Given the description of an element on the screen output the (x, y) to click on. 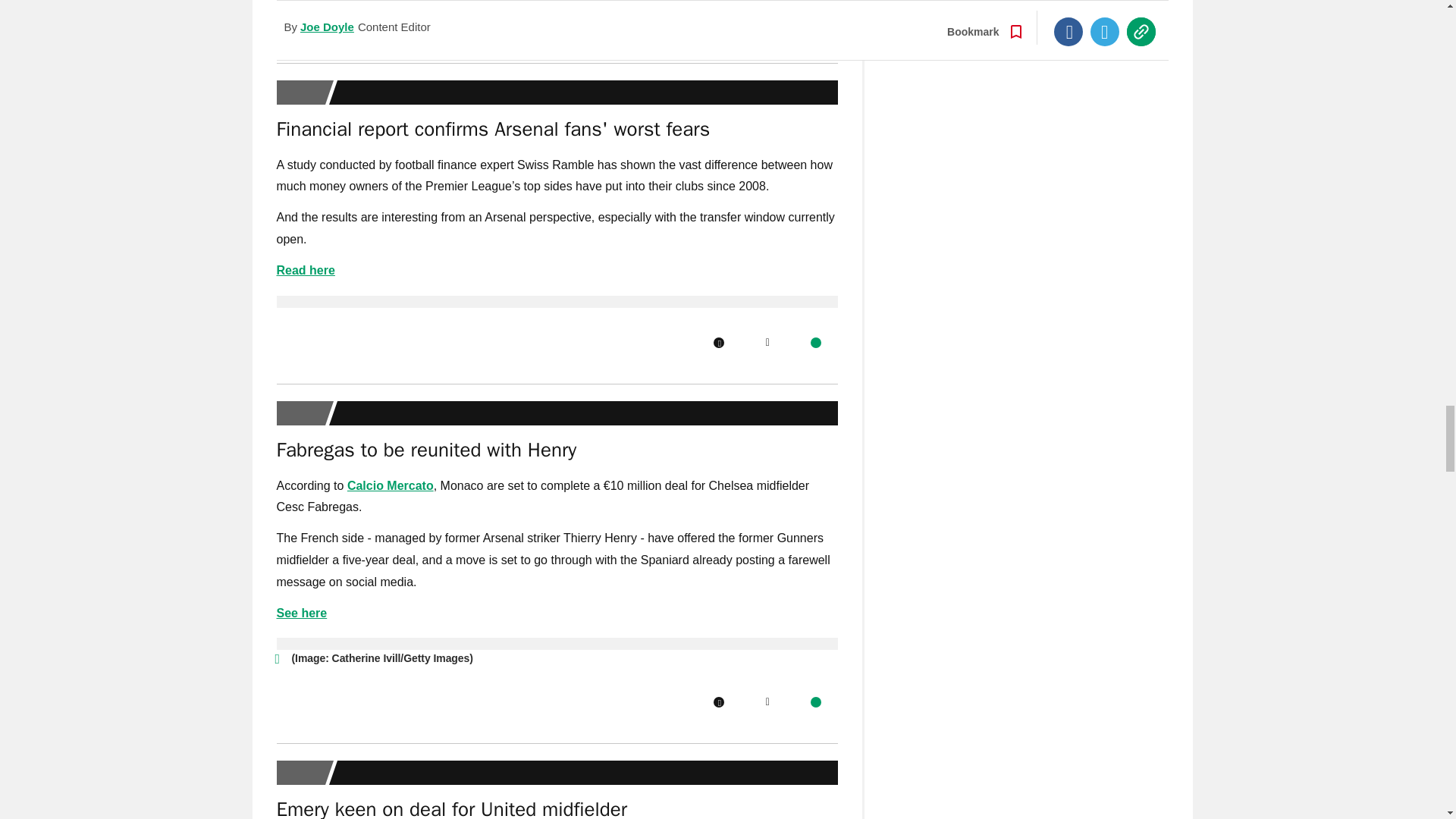
Twitter (767, 21)
Facebook (718, 21)
